Given the description of an element on the screen output the (x, y) to click on. 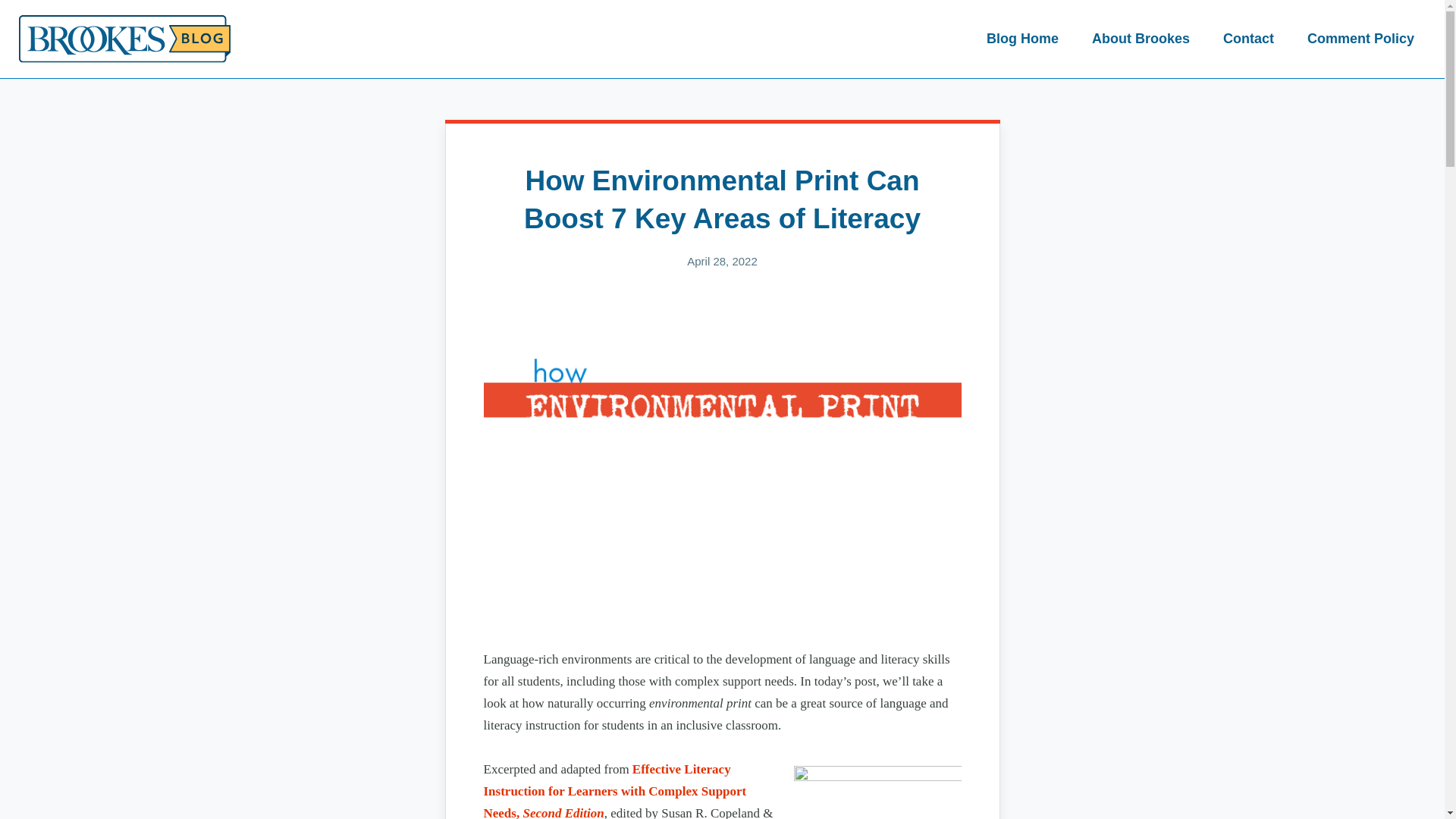
Blog Home (1022, 38)
Comment Policy (1360, 38)
About Brookes (1140, 38)
Contact (1248, 38)
